Given the description of an element on the screen output the (x, y) to click on. 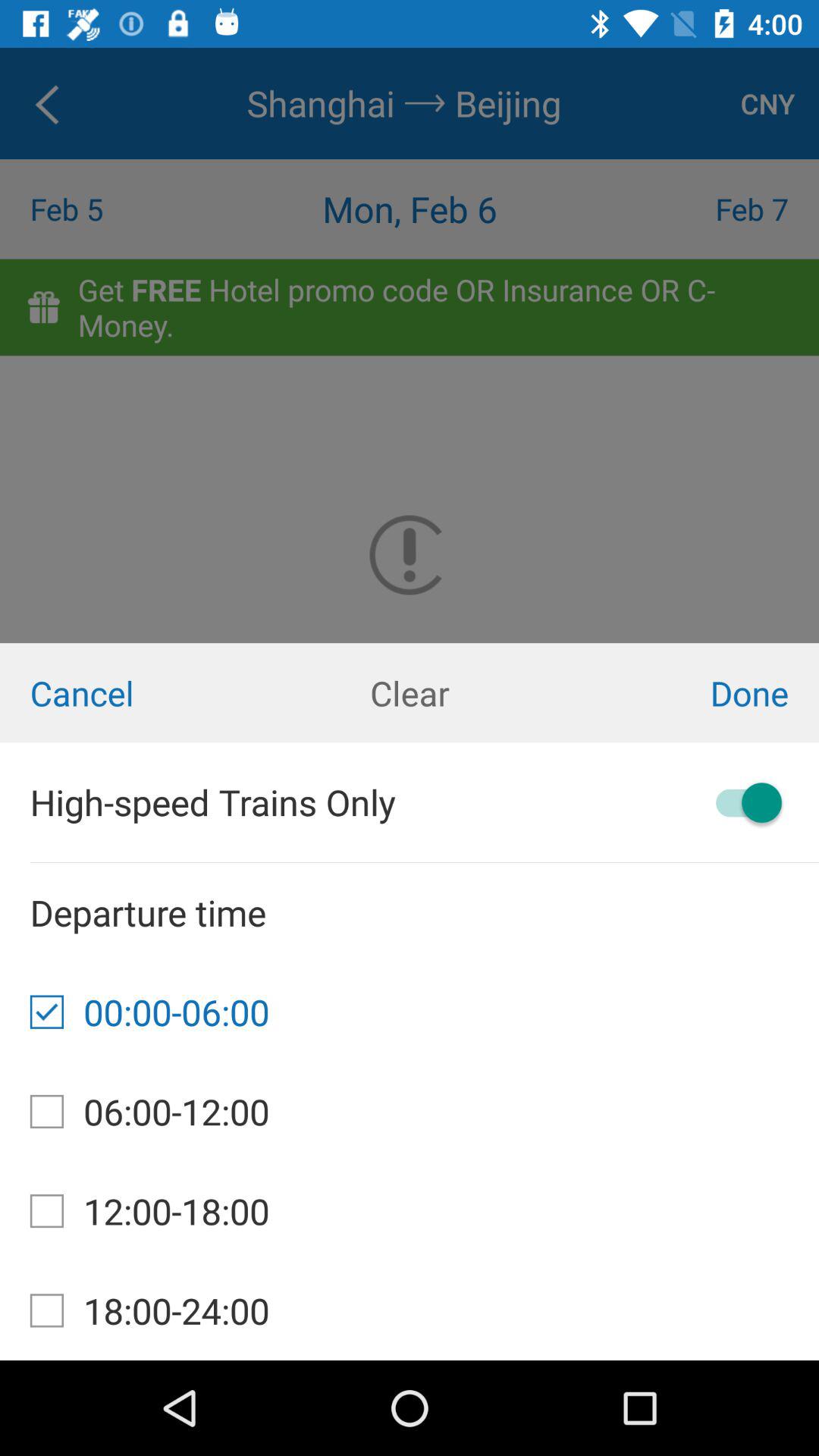
choose item next to clear item (136, 692)
